Given the description of an element on the screen output the (x, y) to click on. 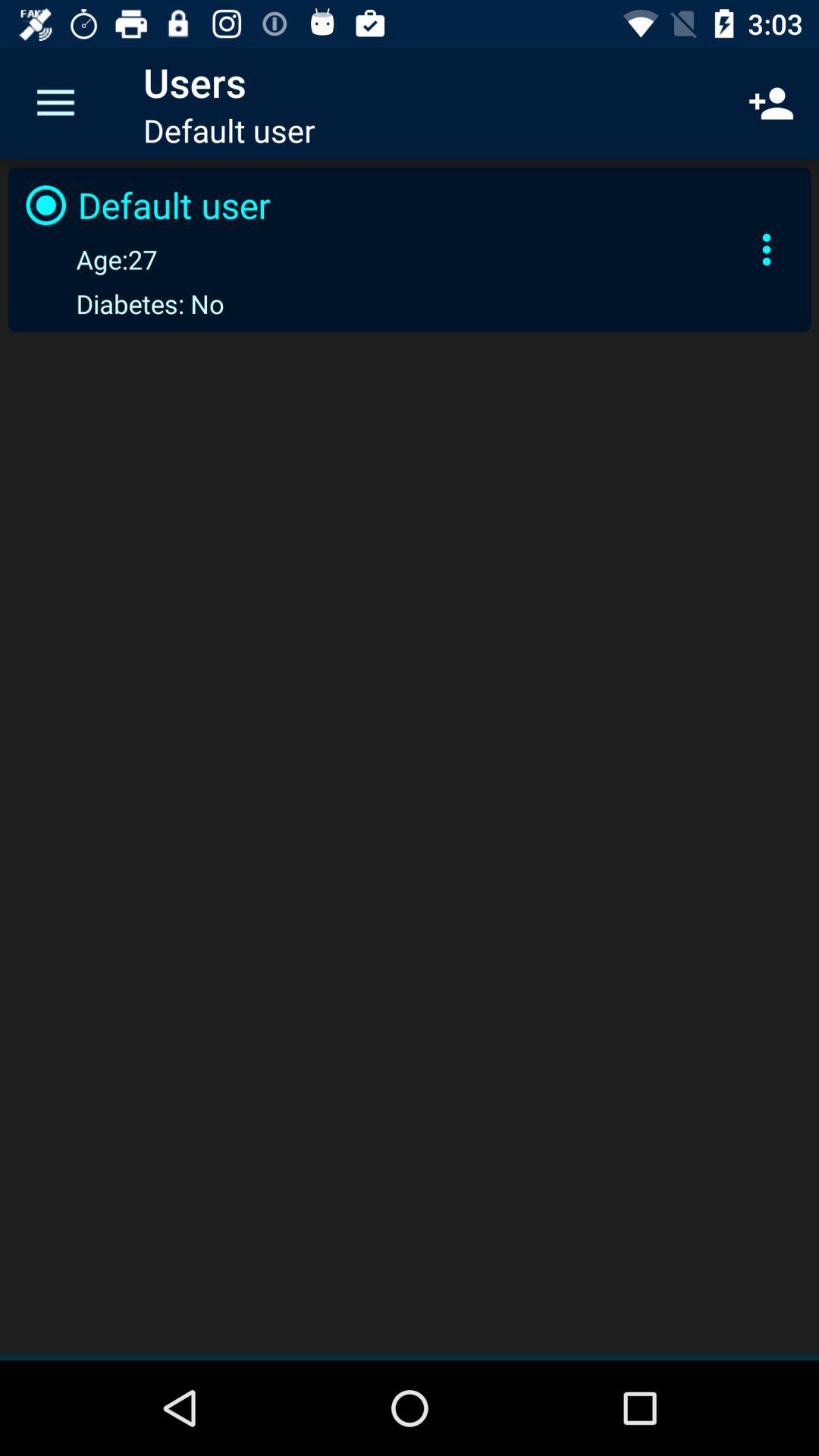
turn off the icon next to default user icon (771, 103)
